Given the description of an element on the screen output the (x, y) to click on. 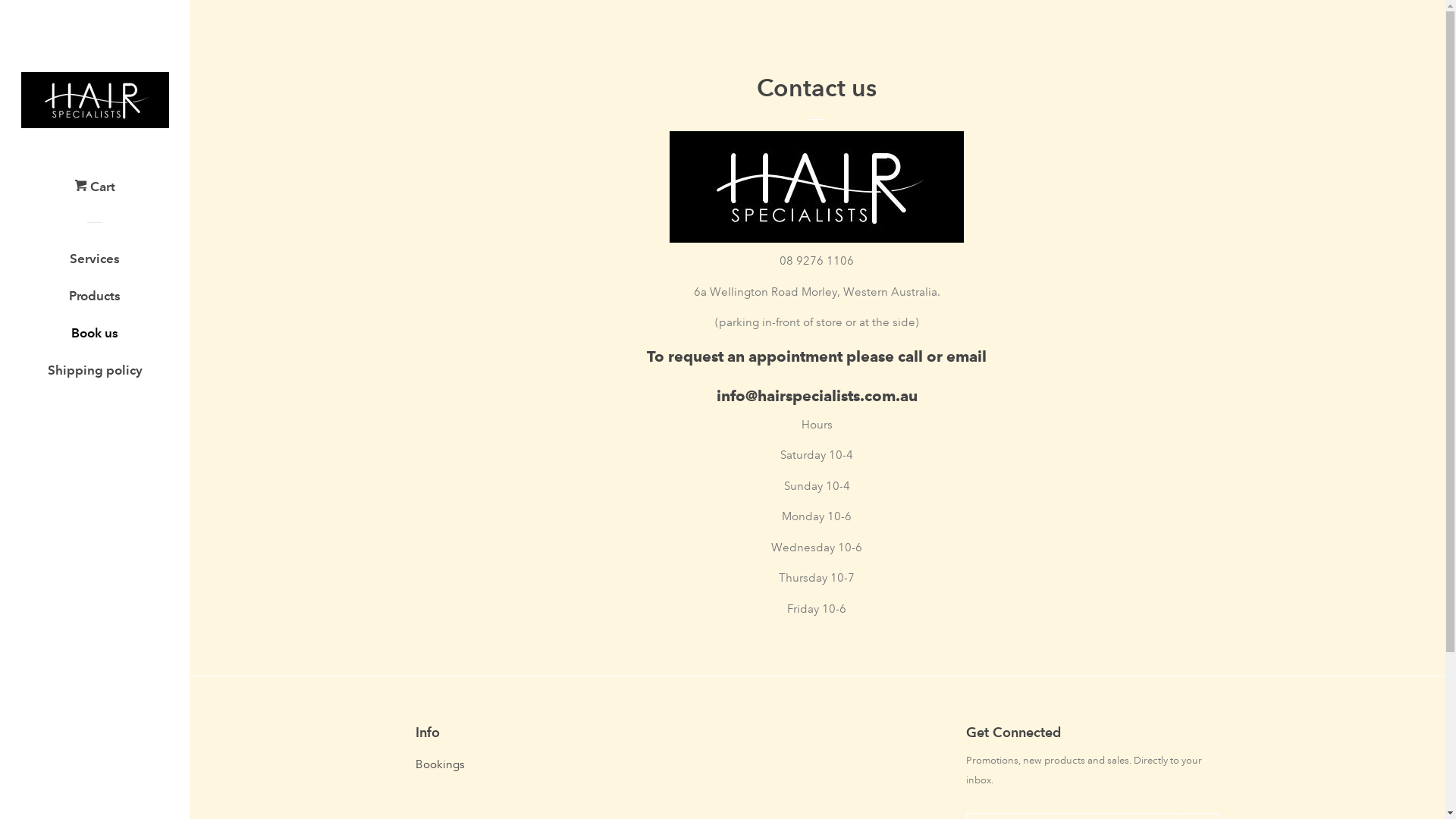
Bookings Element type: text (439, 764)
Cart Element type: text (94, 191)
Close Element type: text (1394, 100)
Shipping policy Element type: text (94, 375)
Services Element type: text (94, 263)
Book us Element type: text (94, 338)
Products Element type: text (94, 301)
